Given the description of an element on the screen output the (x, y) to click on. 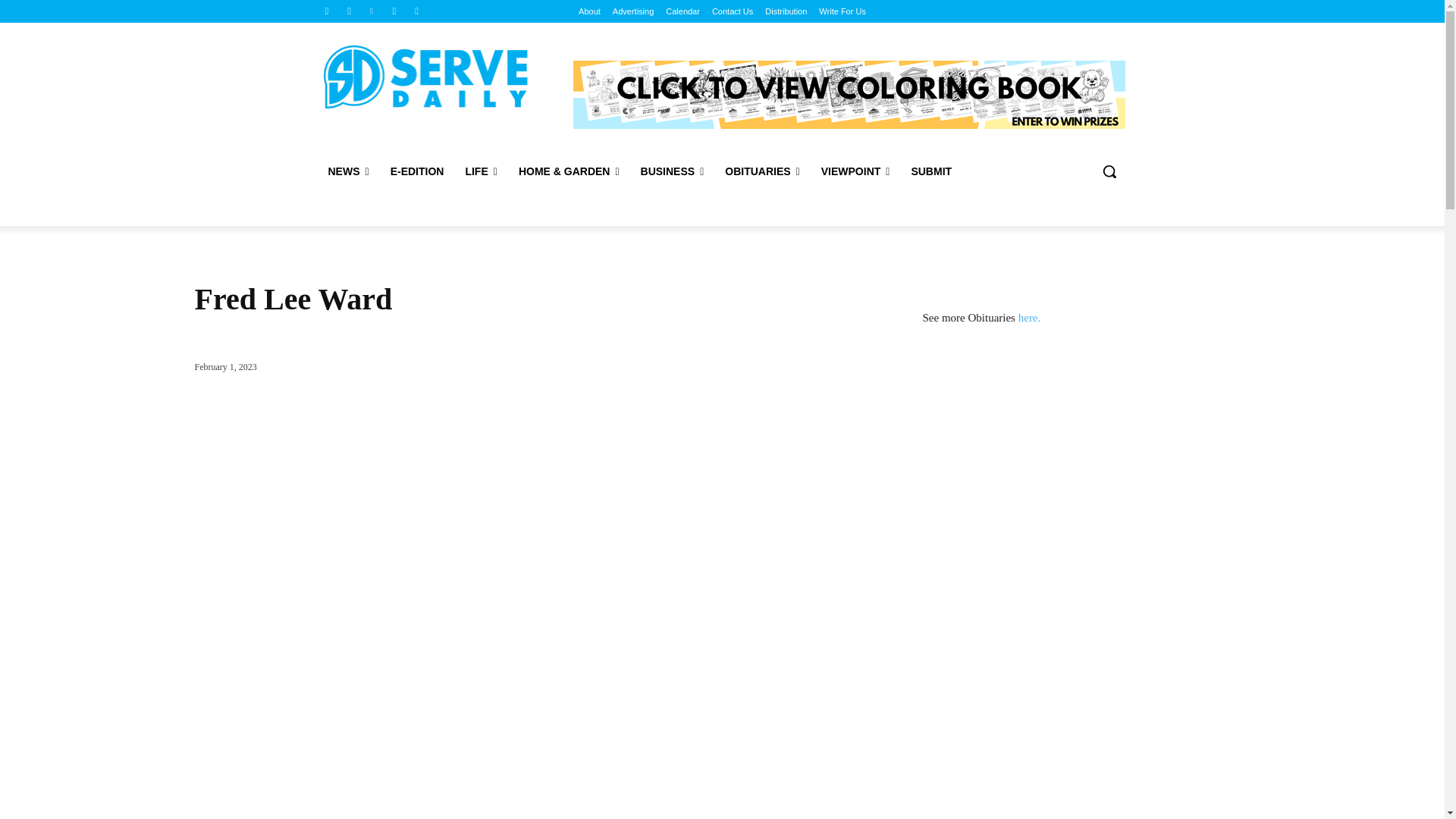
Twitter (394, 10)
Instagram (348, 10)
Linkedin (371, 10)
Facebook (326, 10)
